Given the description of an element on the screen output the (x, y) to click on. 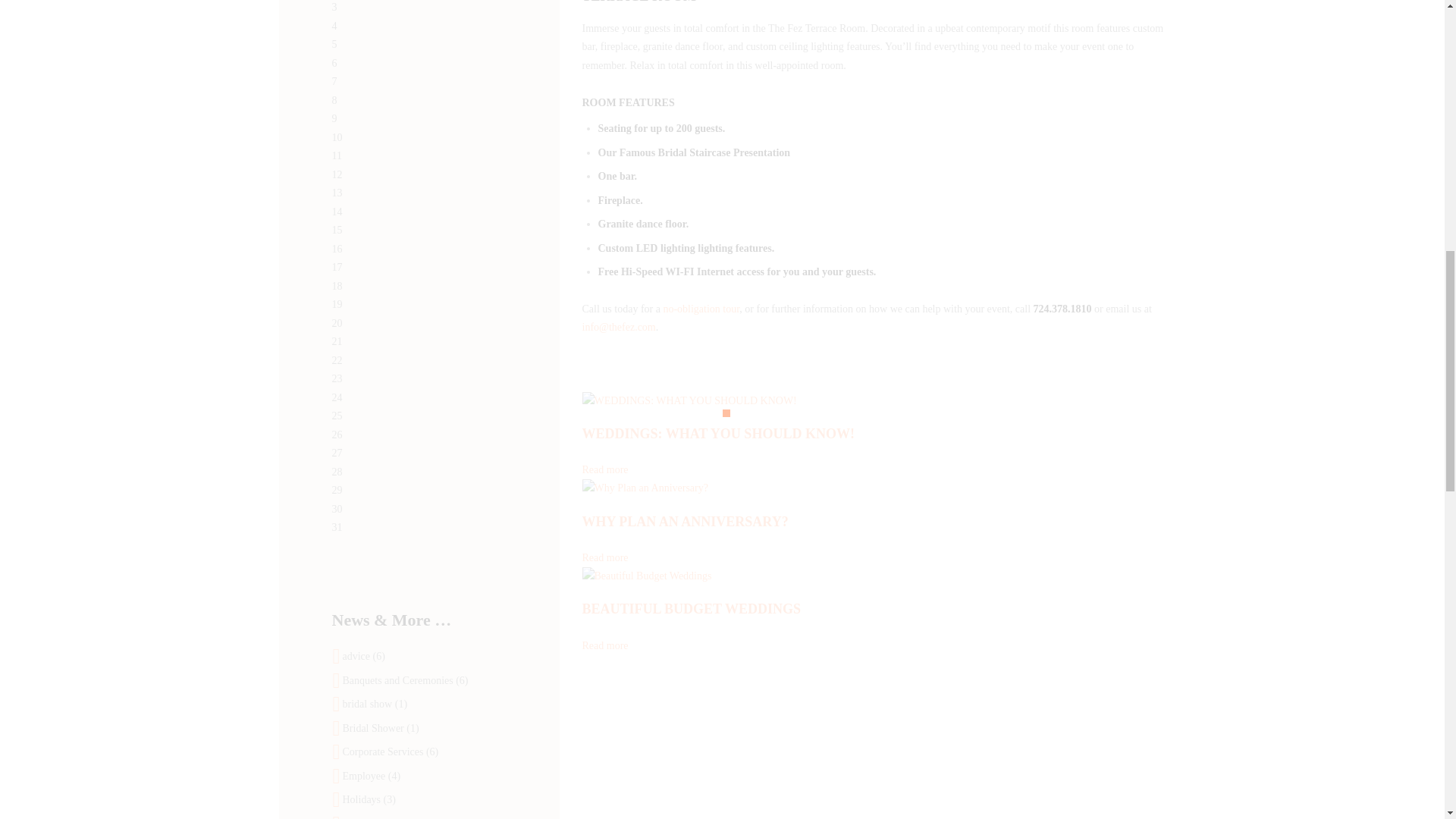
Banquets and Ceremonies (397, 680)
BEAUTIFUL BUDGET WEDDINGS (691, 608)
Read more (605, 469)
bridal show (367, 704)
advice (356, 655)
Read more (605, 557)
Read more (605, 645)
WHY PLAN AN ANNIVERSARY? (685, 521)
WEDDINGS: WHAT YOU SHOULD KNOW! (718, 433)
no-obligation tour (700, 308)
